Given the description of an element on the screen output the (x, y) to click on. 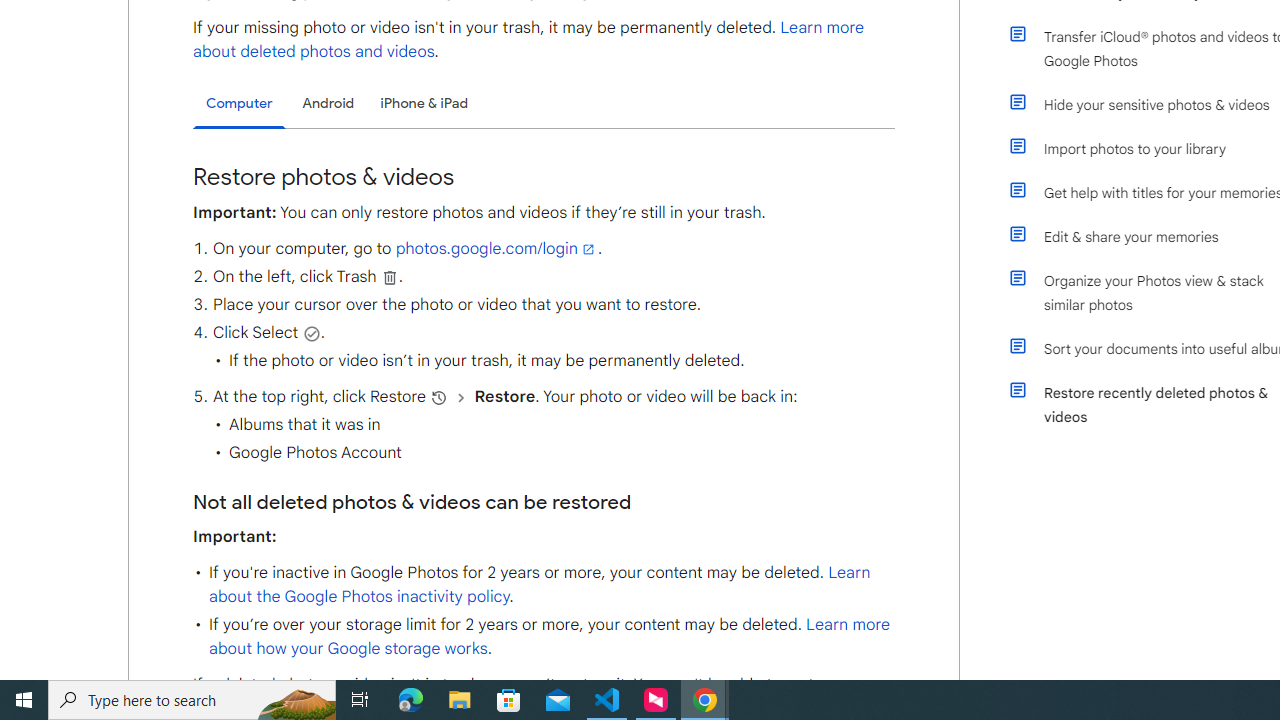
Computer (239, 103)
iPhone & iPad (424, 102)
Learn more about how your Google storage works (548, 636)
Learn about the Google Photos inactivity policy (539, 584)
Delete (389, 277)
photos.google.com/login (496, 249)
Android (328, 102)
Select (311, 333)
and then (461, 397)
Learn more about deleted photos and videos (529, 39)
